Given the description of an element on the screen output the (x, y) to click on. 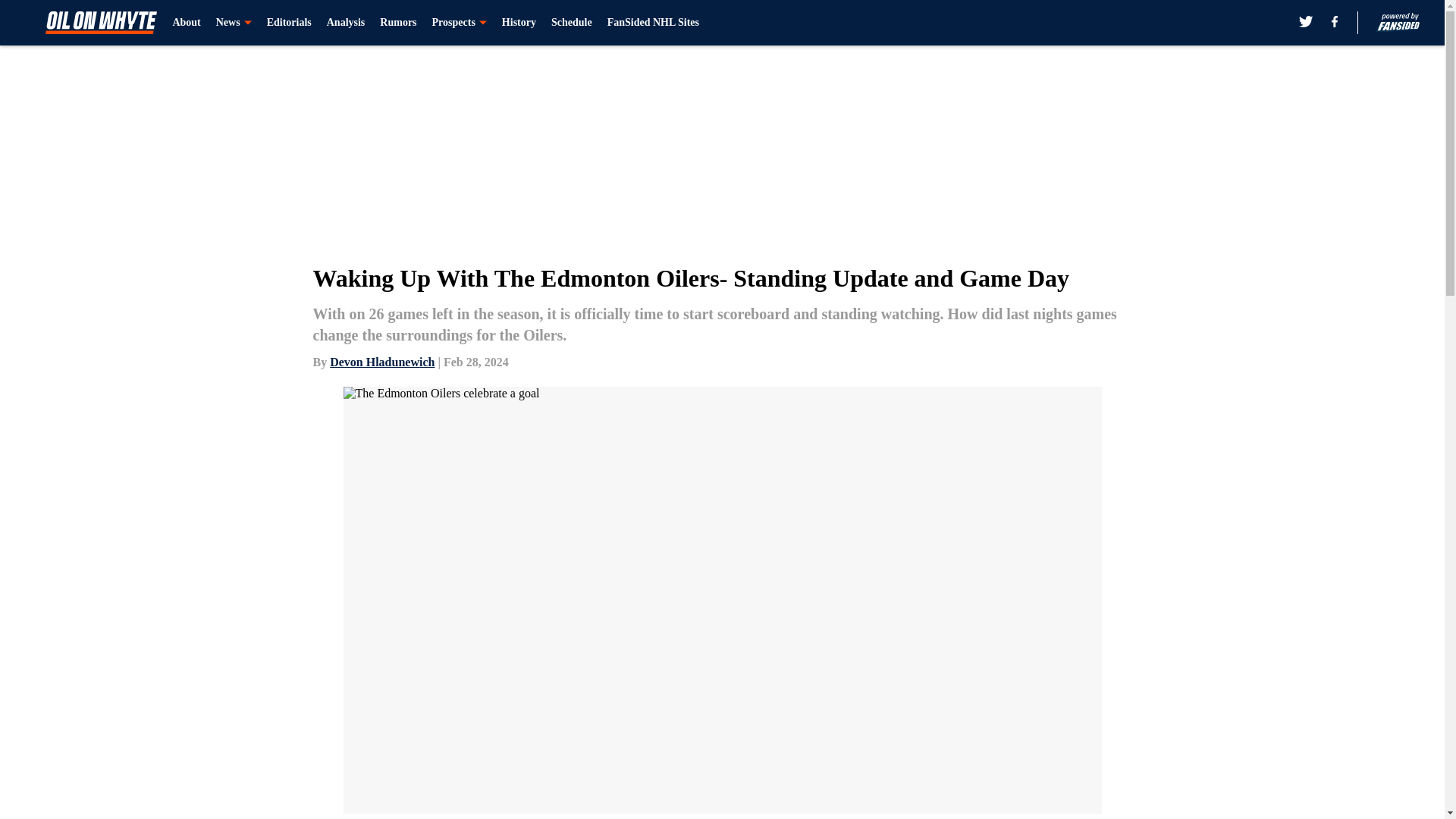
FanSided NHL Sites (652, 22)
History (518, 22)
About (185, 22)
Schedule (571, 22)
Editorials (288, 22)
Rumors (398, 22)
Analysis (345, 22)
Devon Hladunewich (381, 361)
